Given the description of an element on the screen output the (x, y) to click on. 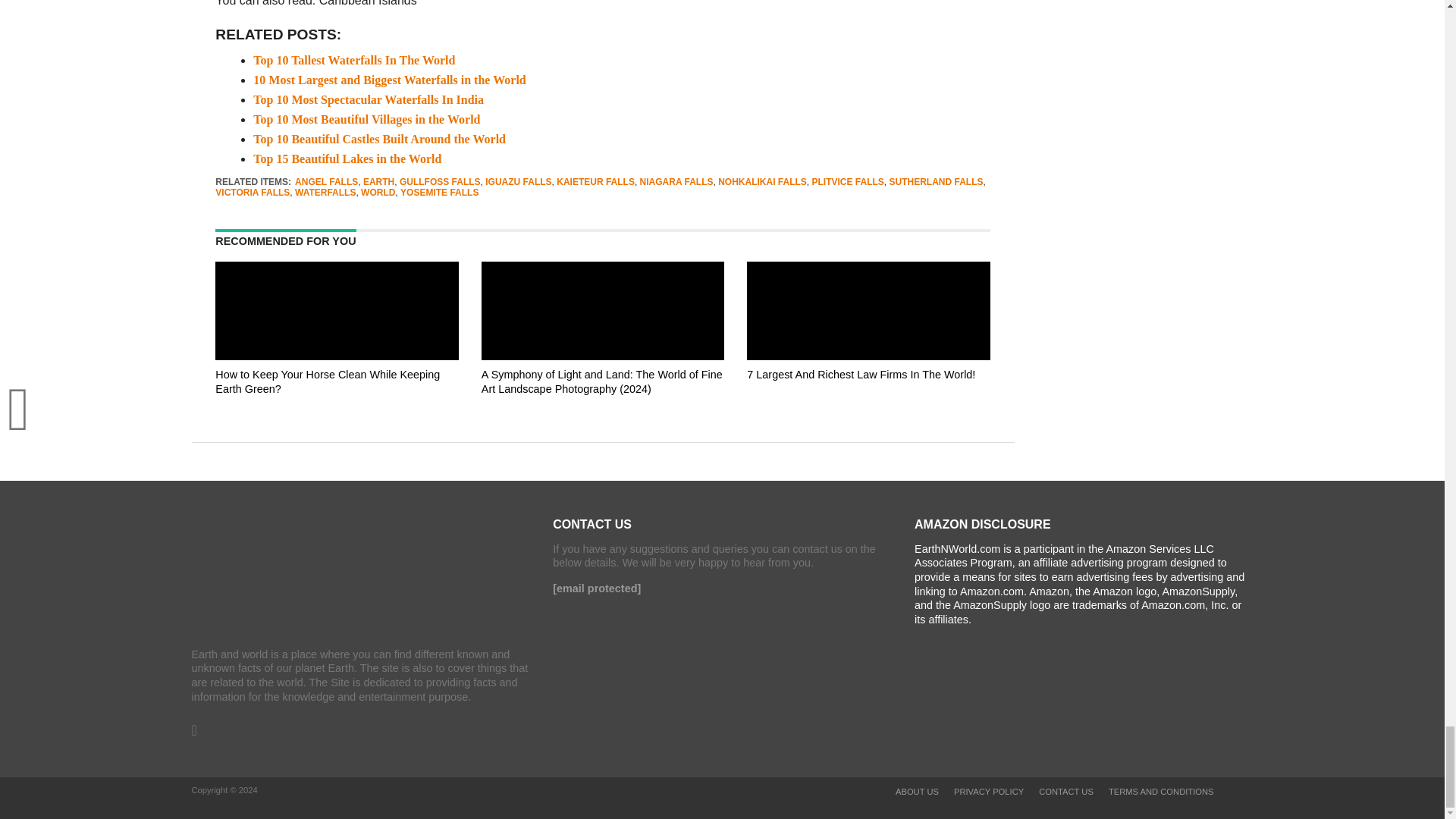
How to Keep Your Horse Clean While Keeping Earth Green? (336, 402)
Top 10 Most Spectacular Waterfalls In India (368, 99)
Top 10 Tallest Waterfalls In The World (353, 60)
10 Most Largest and Biggest Waterfalls in the World (389, 79)
